Given the description of an element on the screen output the (x, y) to click on. 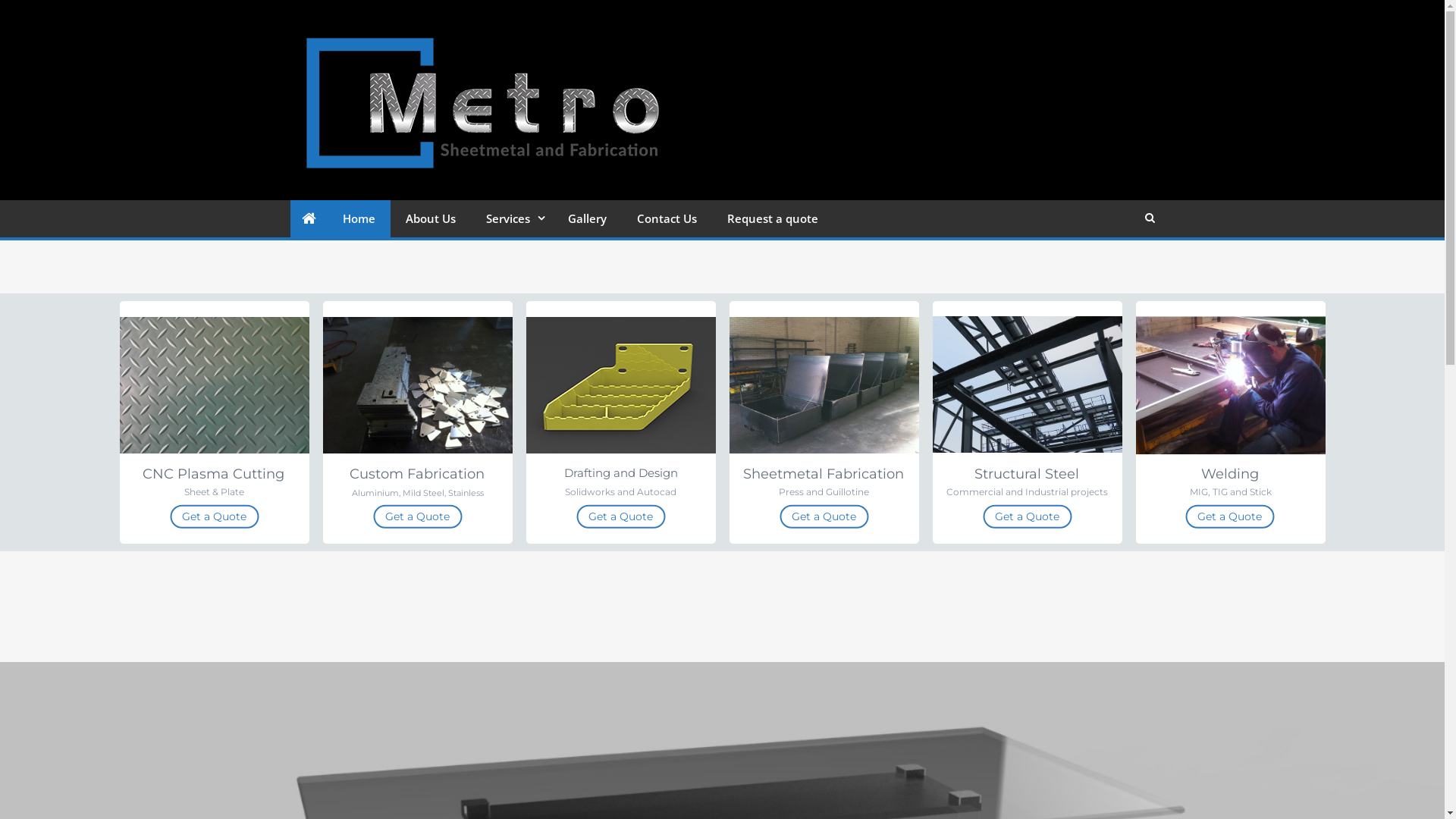
CNC Plasma Cutting Element type: text (213, 474)
Services Element type: text (511, 218)
Sheetmetal Fabrication Element type: text (823, 474)
Contact Us Element type: text (666, 218)
Press and Guillotine Element type: text (823, 491)
Get a Quote Element type: text (823, 516)
Home Element type: text (358, 218)
Get a Quote Element type: text (213, 516)
Get a Quote Element type: text (1229, 516)
Structural Steel Element type: text (1025, 474)
Custom Fabrication Element type: text (415, 474)
Gallery Element type: text (586, 218)
About Us Element type: text (429, 218)
Get a Quote Element type: text (620, 516)
Welding Element type: text (1229, 474)
Drafting and Design Element type: text (620, 473)
Get a Quote Element type: text (1026, 516)
Request a quote Element type: text (771, 218)
Get a Quote Element type: text (417, 516)
